Given the description of an element on the screen output the (x, y) to click on. 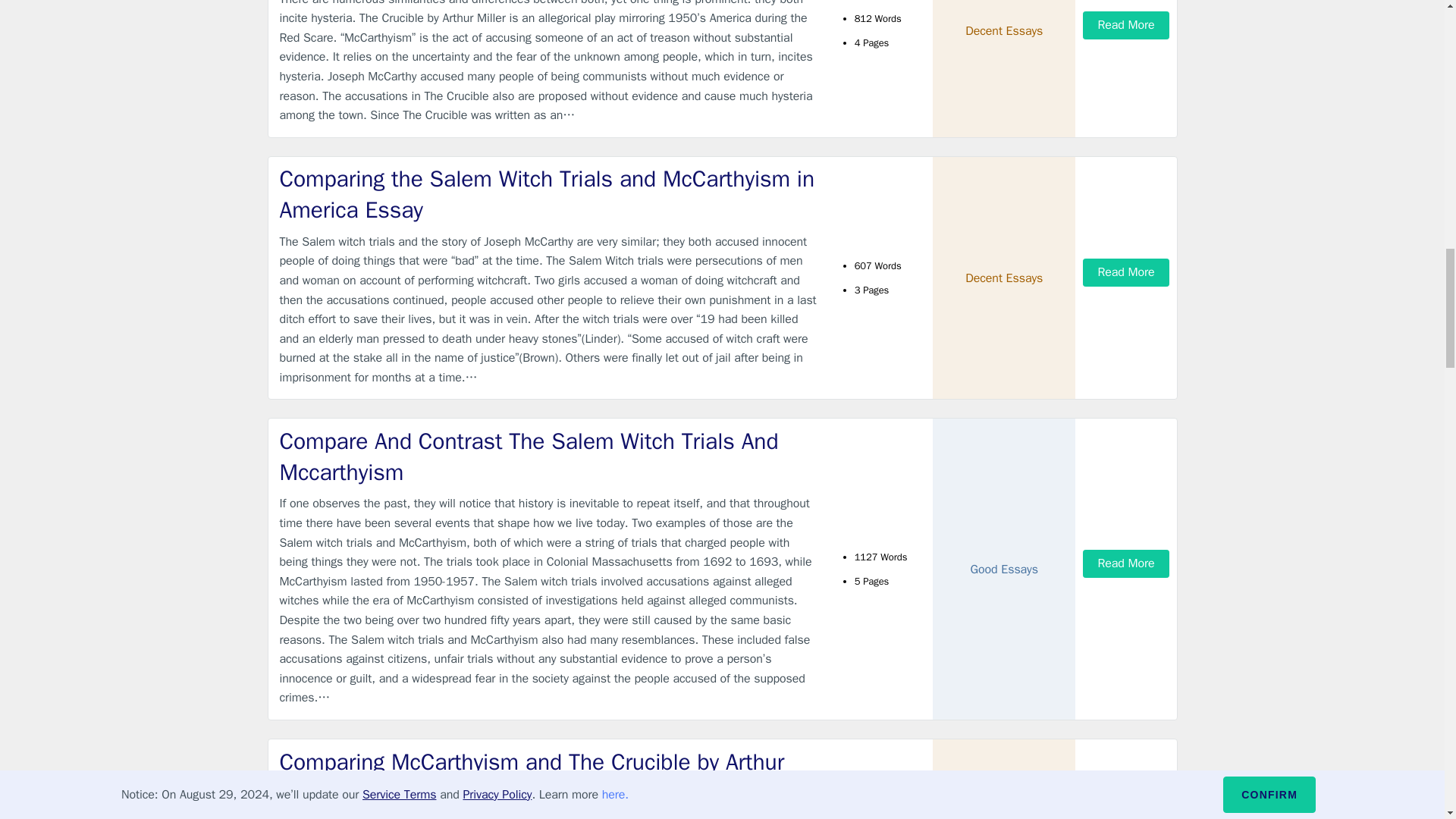
Read More (1126, 563)
Compare And Contrast The Salem Witch Trials And Mccarthyism (548, 456)
Read More (1126, 272)
Read More (1126, 25)
